Given the description of an element on the screen output the (x, y) to click on. 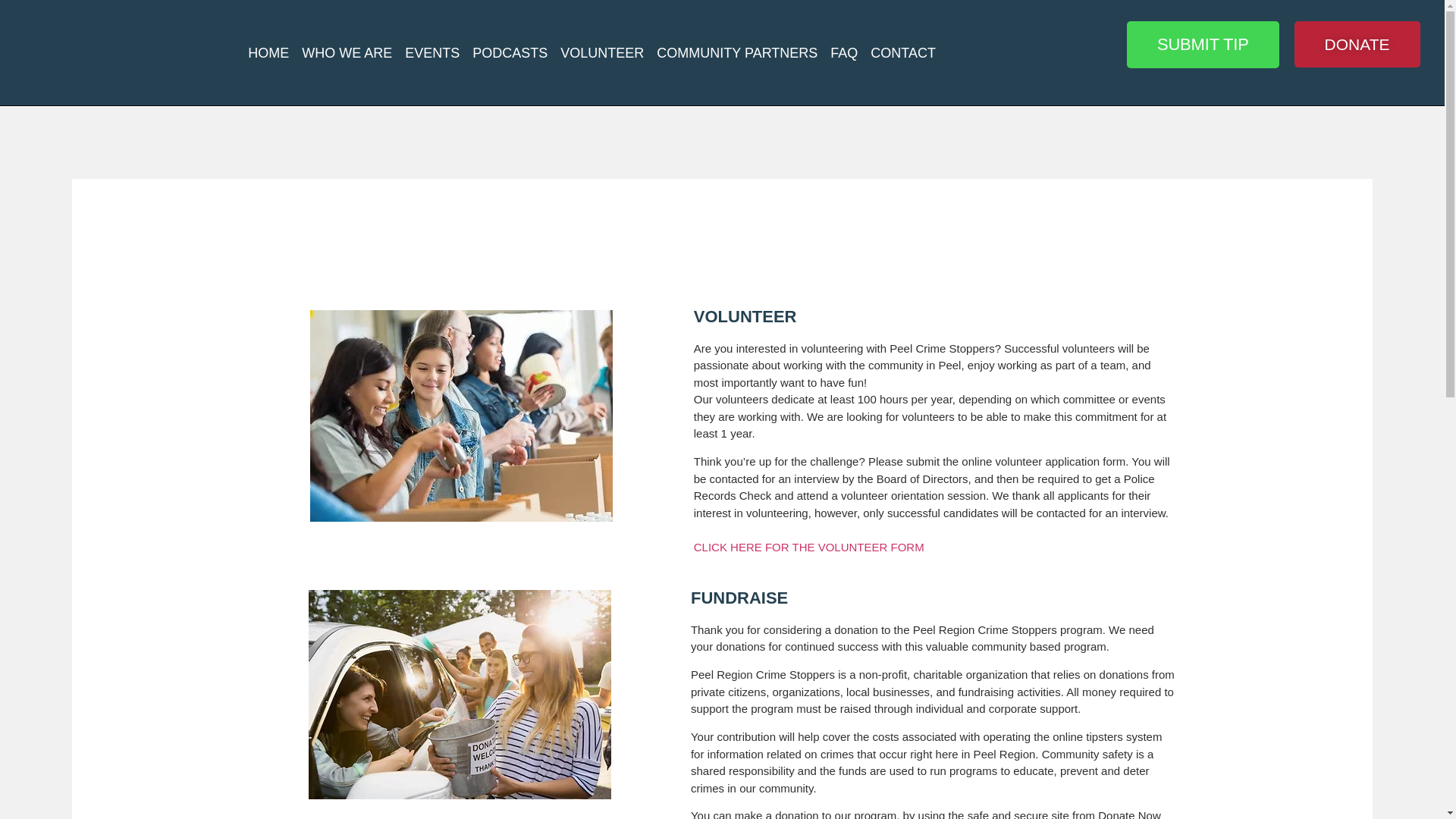
WHO WE ARE (346, 52)
EVENTS (432, 52)
HOME (267, 52)
